Given the description of an element on the screen output the (x, y) to click on. 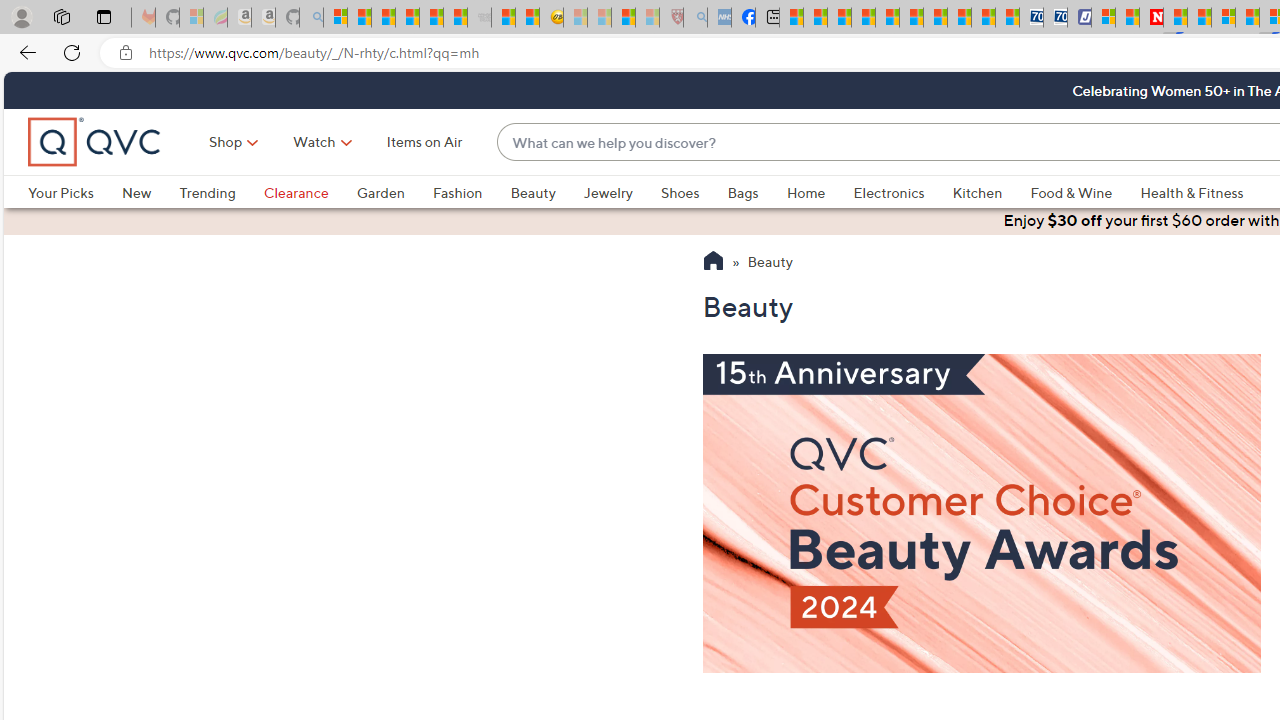
Food & Wine (1085, 192)
Kitchen (991, 192)
MSNBC - MSN (790, 17)
Jewelry (607, 192)
list of asthma inhalers uk - Search - Sleeping (694, 17)
Garden (393, 192)
Trusted Community Engagement and Contributions | Guidelines (1174, 17)
Science - MSN (622, 17)
